Given the description of an element on the screen output the (x, y) to click on. 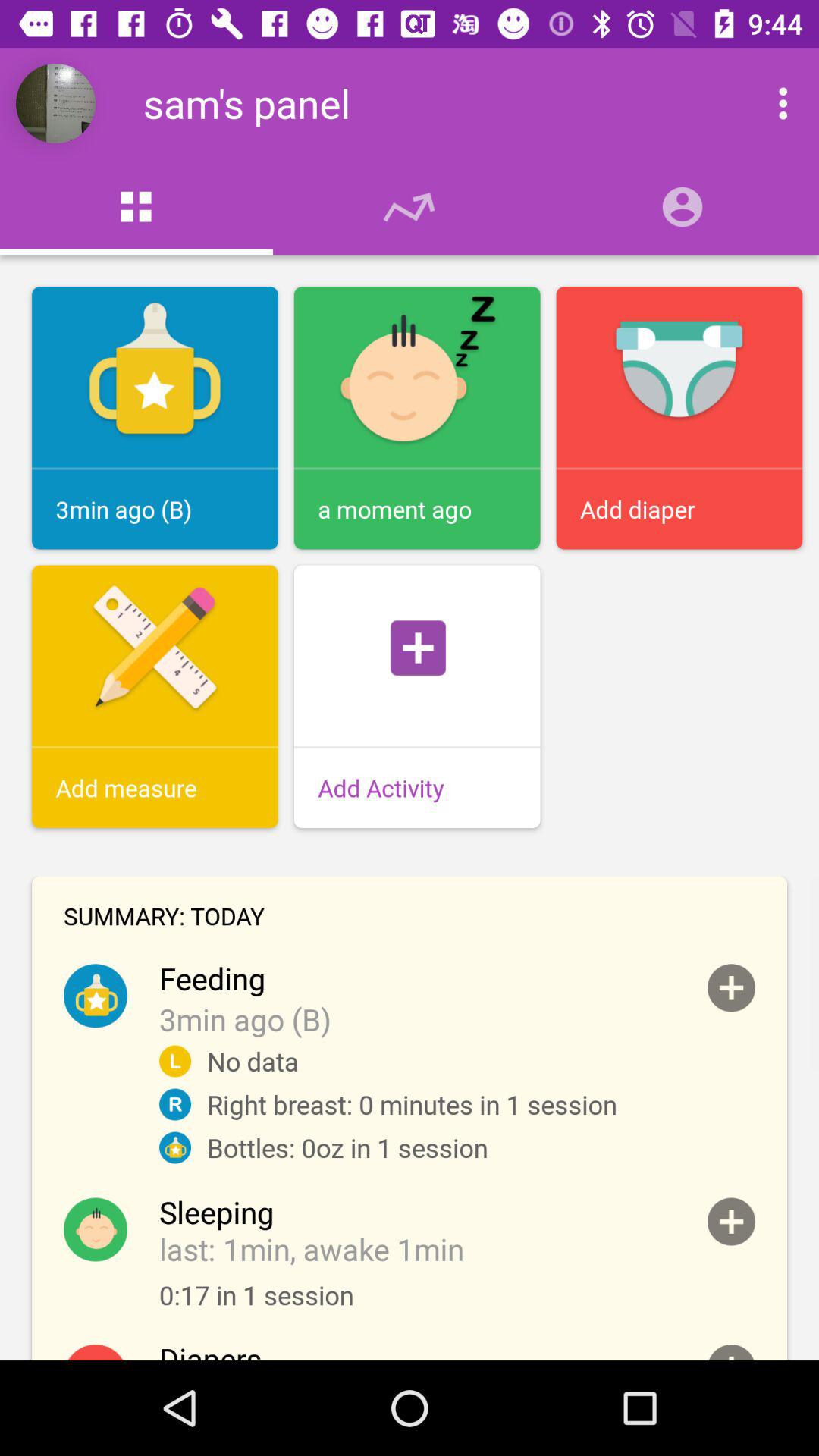
add sleeping time (731, 1221)
